Given the description of an element on the screen output the (x, y) to click on. 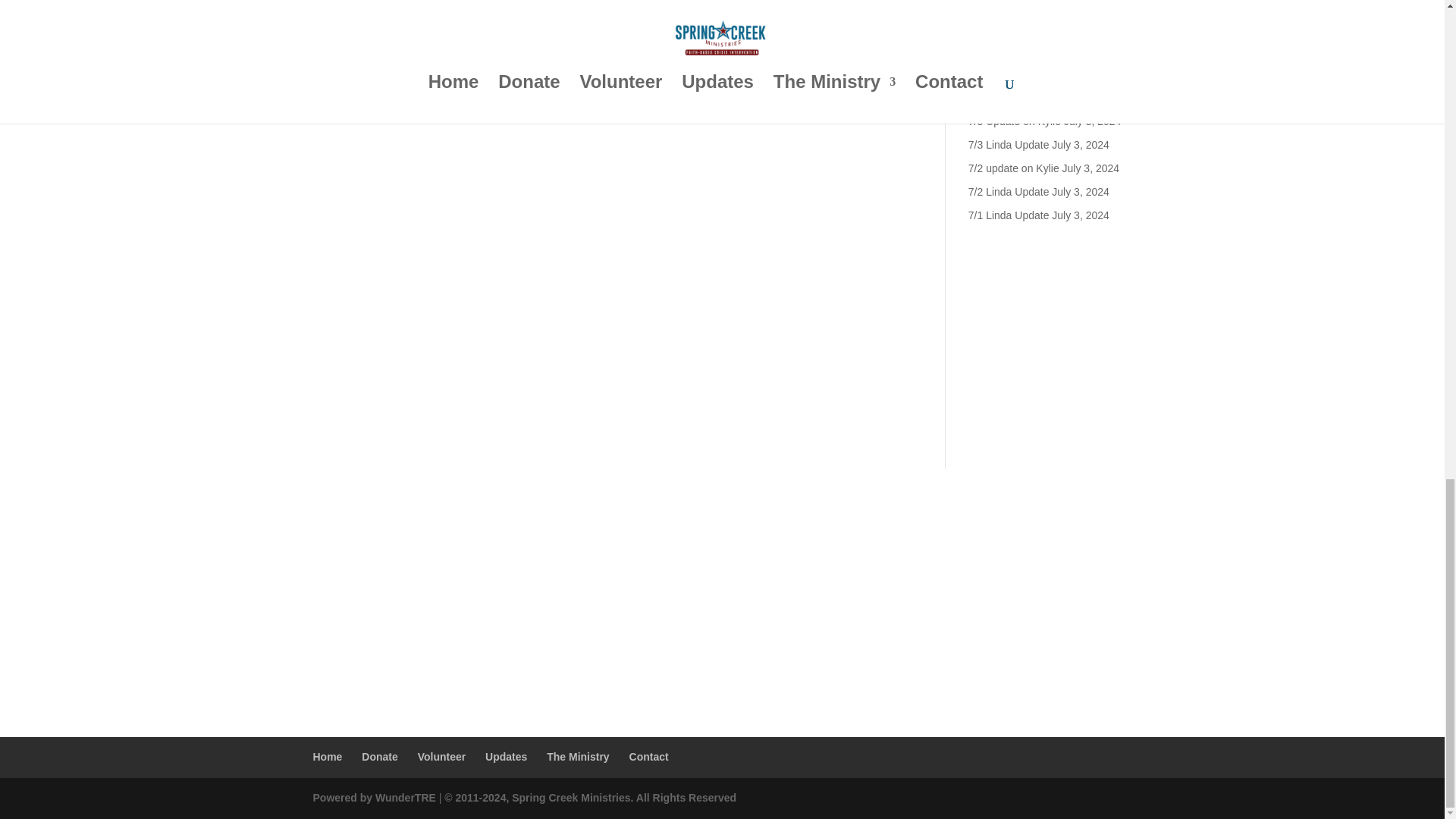
WunderTRE (403, 797)
Home (327, 756)
Volunteer (441, 756)
Powered by (342, 797)
Contact (648, 756)
Donate (379, 756)
Updates (505, 756)
The Ministry (577, 756)
Happy Independence Day! (1031, 80)
